Given the description of an element on the screen output the (x, y) to click on. 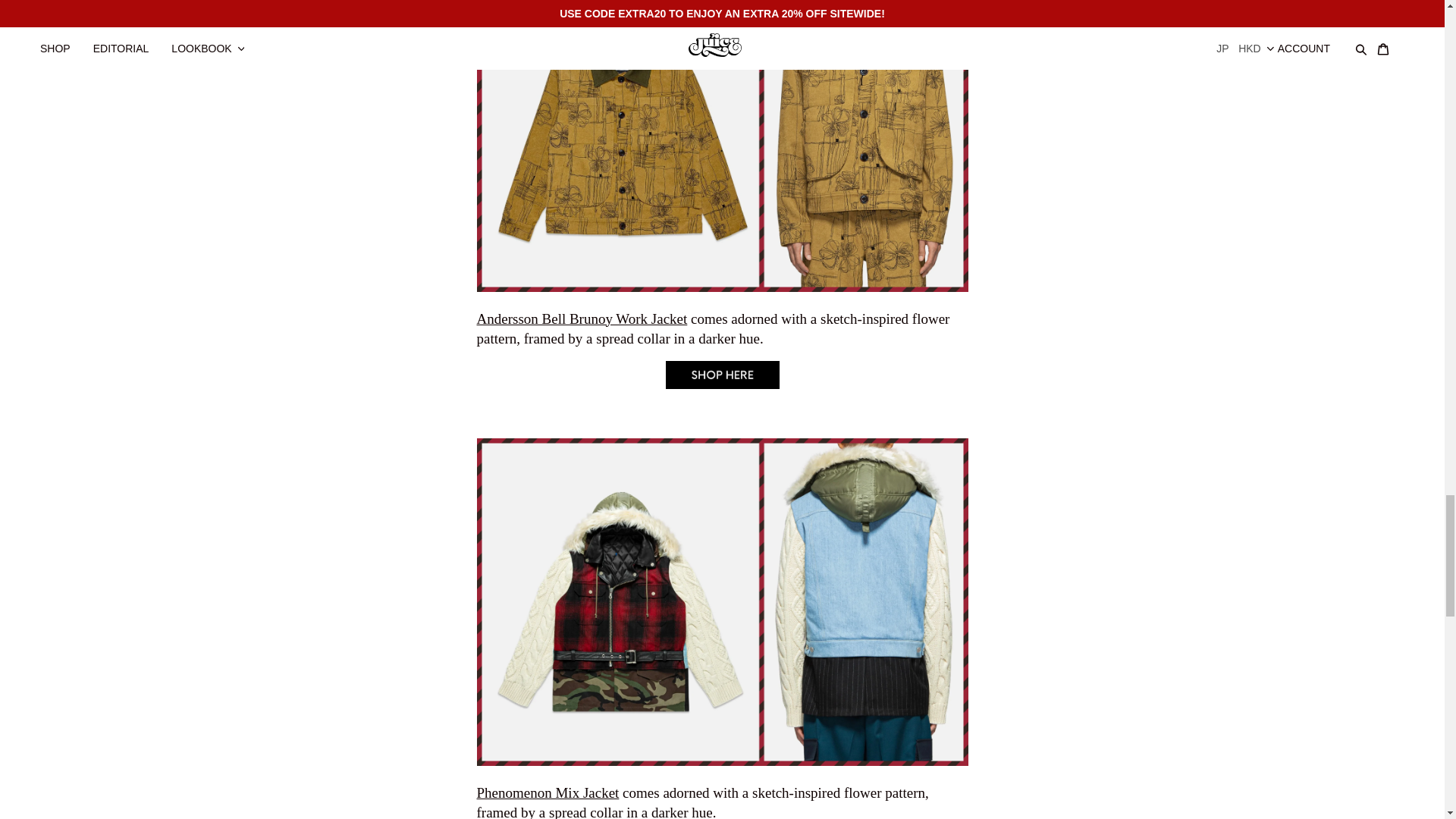
Phenomenon Mix Jacket (547, 792)
Andersson Bell Brunoy Work Jacket (581, 318)
Andersson Bell Brunoy Work Jacket (721, 383)
